Given the description of an element on the screen output the (x, y) to click on. 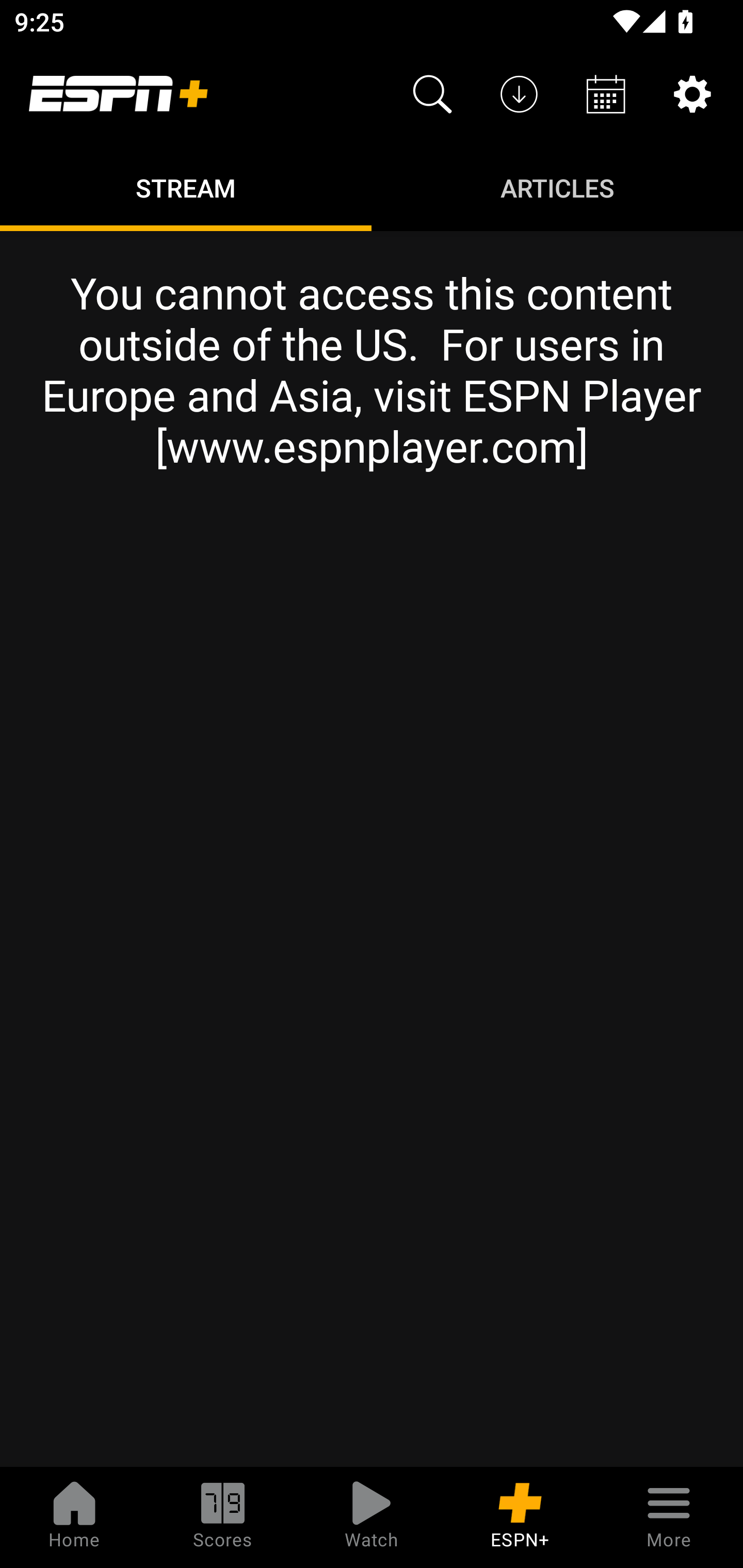
Search (432, 93)
Downloads (518, 93)
Schedule (605, 93)
Settings (692, 93)
Articles ARTICLES (557, 187)
Home (74, 1517)
Scores (222, 1517)
Watch (371, 1517)
More (668, 1517)
